Given the description of an element on the screen output the (x, y) to click on. 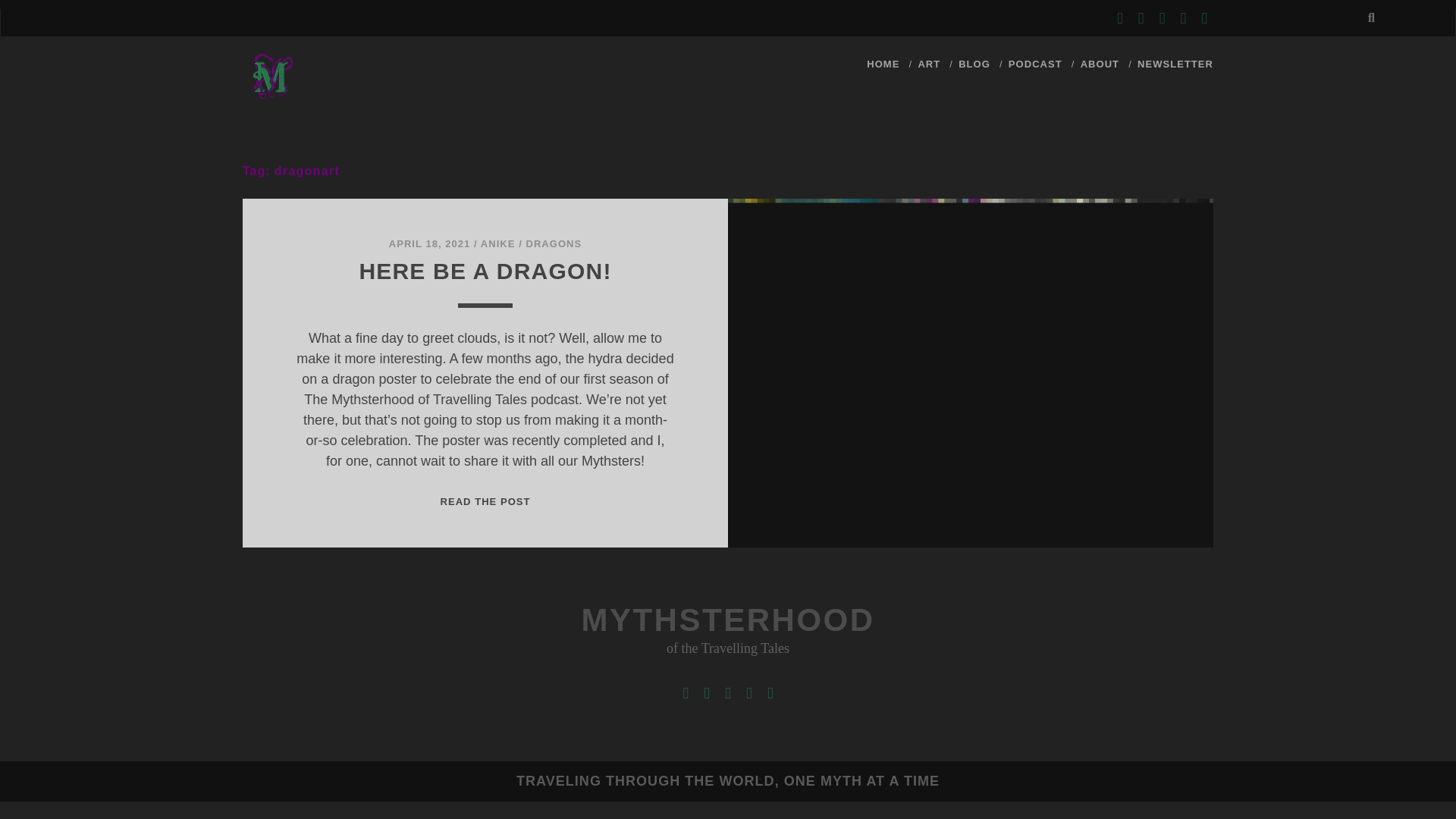
BLOG (974, 64)
HERE BE A DRAGON! (484, 270)
HOME (882, 64)
PODCAST (1035, 64)
MYTHSTERHOOD (727, 619)
NEWSLETTER (1174, 64)
ART (928, 64)
DRAGONS (484, 501)
Posts by Anike (552, 243)
ANIKE (497, 243)
ABOUT (497, 243)
